Given the description of an element on the screen output the (x, y) to click on. 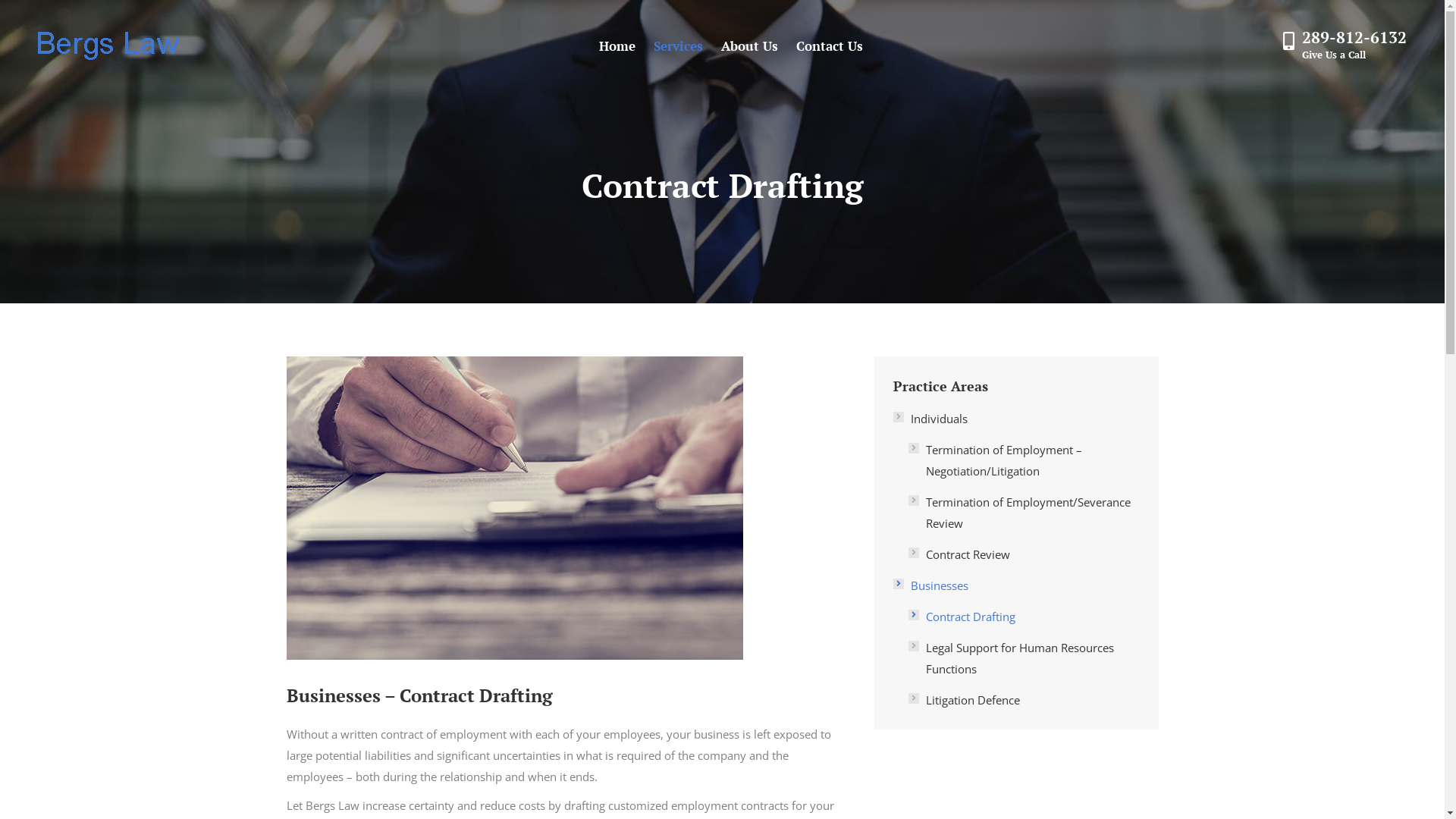
Litigation Defence Element type: text (963, 699)
Legal Support for Human Resources Functions Element type: text (1023, 658)
Contract Review Element type: text (959, 553)
Individuals Element type: text (930, 418)
Contact Us Element type: text (829, 44)
Contract Drafting Element type: text (961, 616)
Services Element type: text (677, 44)
Termination of Employment/Severance Review Element type: text (1023, 512)
Home Element type: text (617, 44)
About Us Element type: text (749, 44)
Businesses Element type: text (930, 585)
business-contract-bergs-law Element type: hover (514, 507)
